Given the description of an element on the screen output the (x, y) to click on. 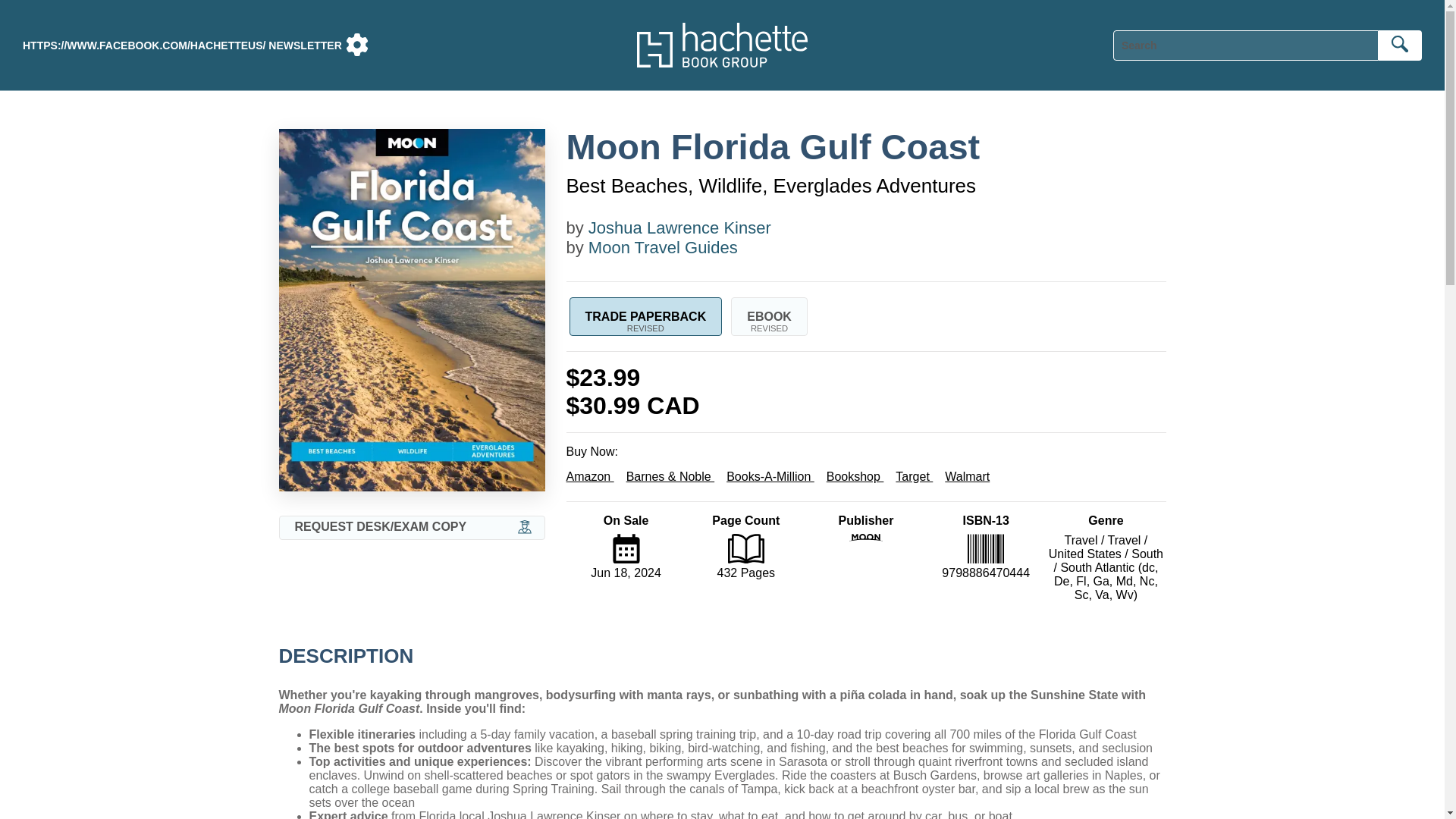
Joshua Lawrence Kinser (679, 227)
United States (1084, 553)
ebook (769, 316)
Amazon (589, 476)
Target (769, 316)
Travel (914, 476)
Moon Travel Guides (1080, 540)
Bookshop (663, 247)
Books-A-Million (855, 476)
Travel (769, 476)
South (1123, 540)
NEWSLETTER (1147, 553)
ACADEMIC ICON ACADEMIC ICON (303, 45)
Walmart (524, 527)
